Given the description of an element on the screen output the (x, y) to click on. 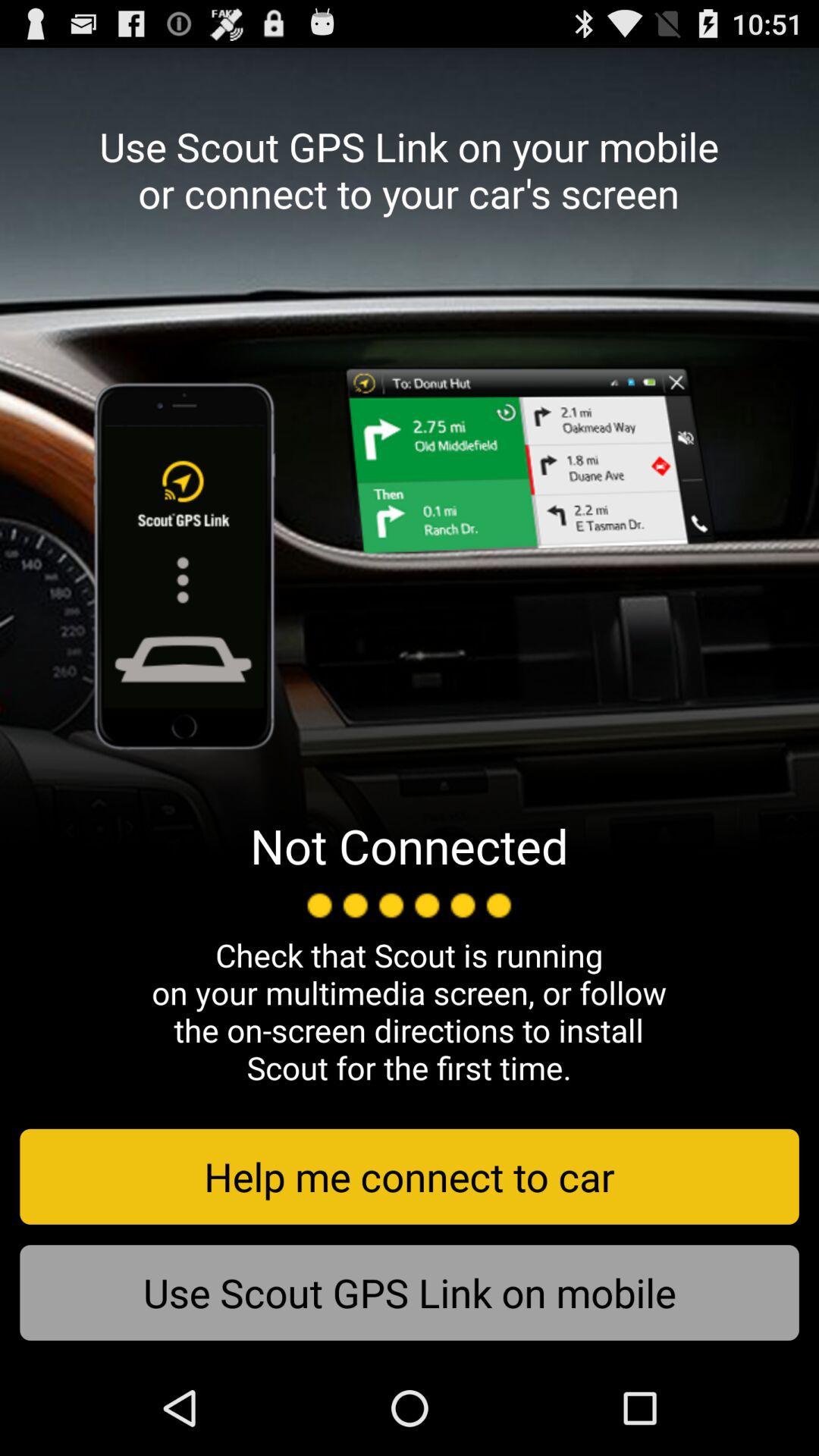
press the help me connect button (409, 1176)
